Given the description of an element on the screen output the (x, y) to click on. 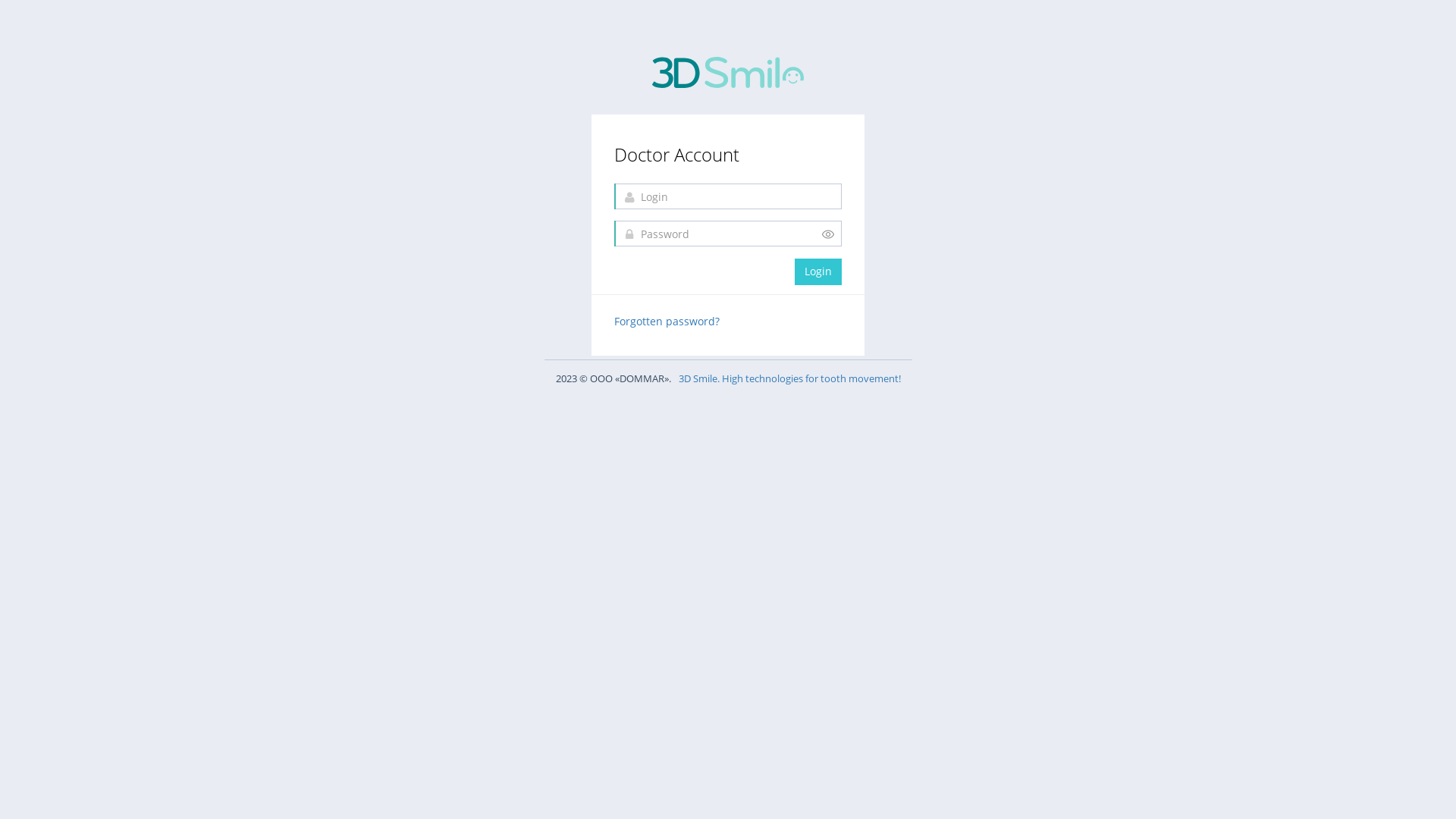
3D Smile. High technologies for tooth movement! Element type: text (788, 378)
Login Element type: text (817, 271)
Forgotten password? Element type: text (666, 320)
